Given the description of an element on the screen output the (x, y) to click on. 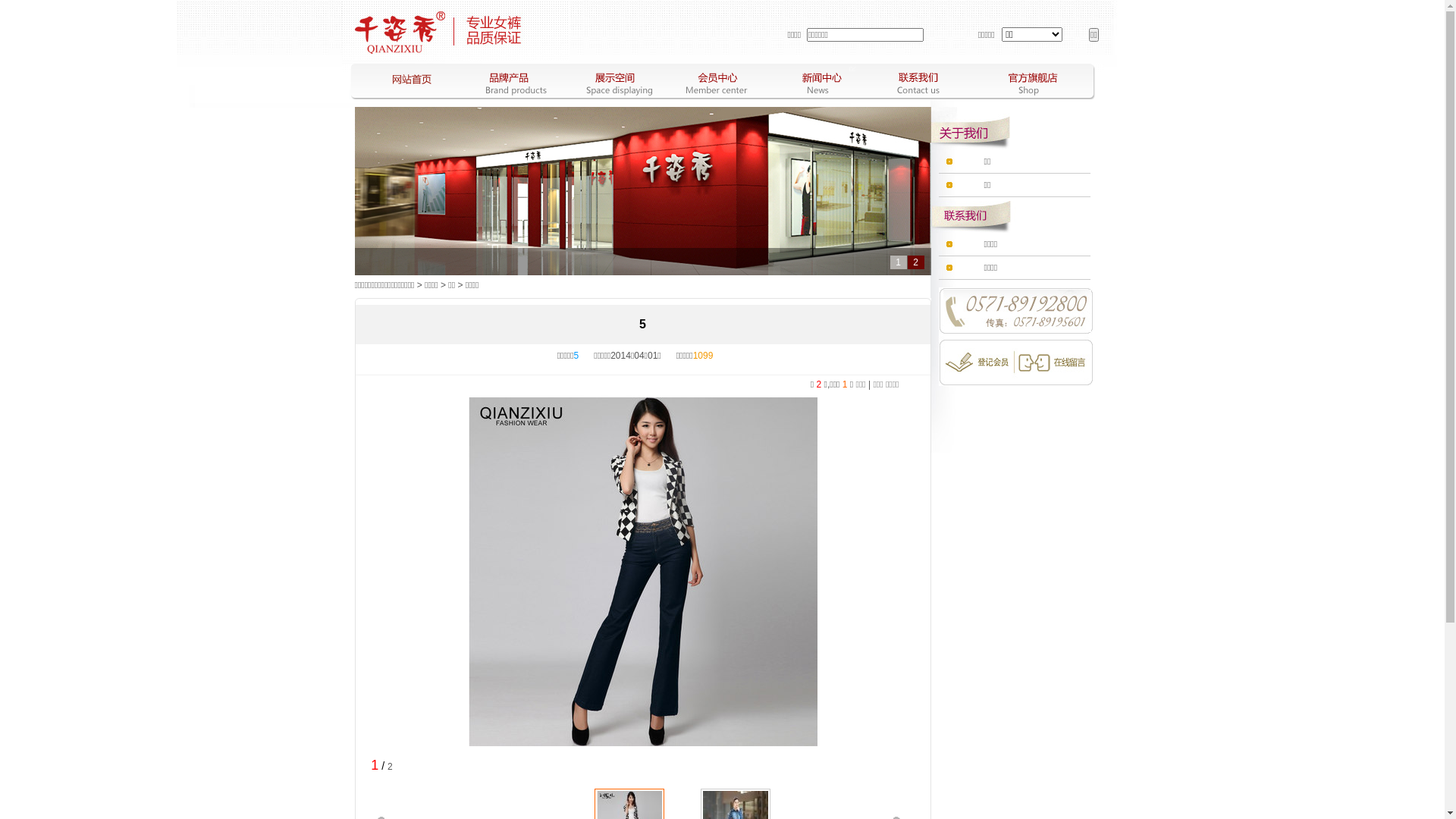
1 Element type: text (898, 262)
2 Element type: text (914, 262)
